Given the description of an element on the screen output the (x, y) to click on. 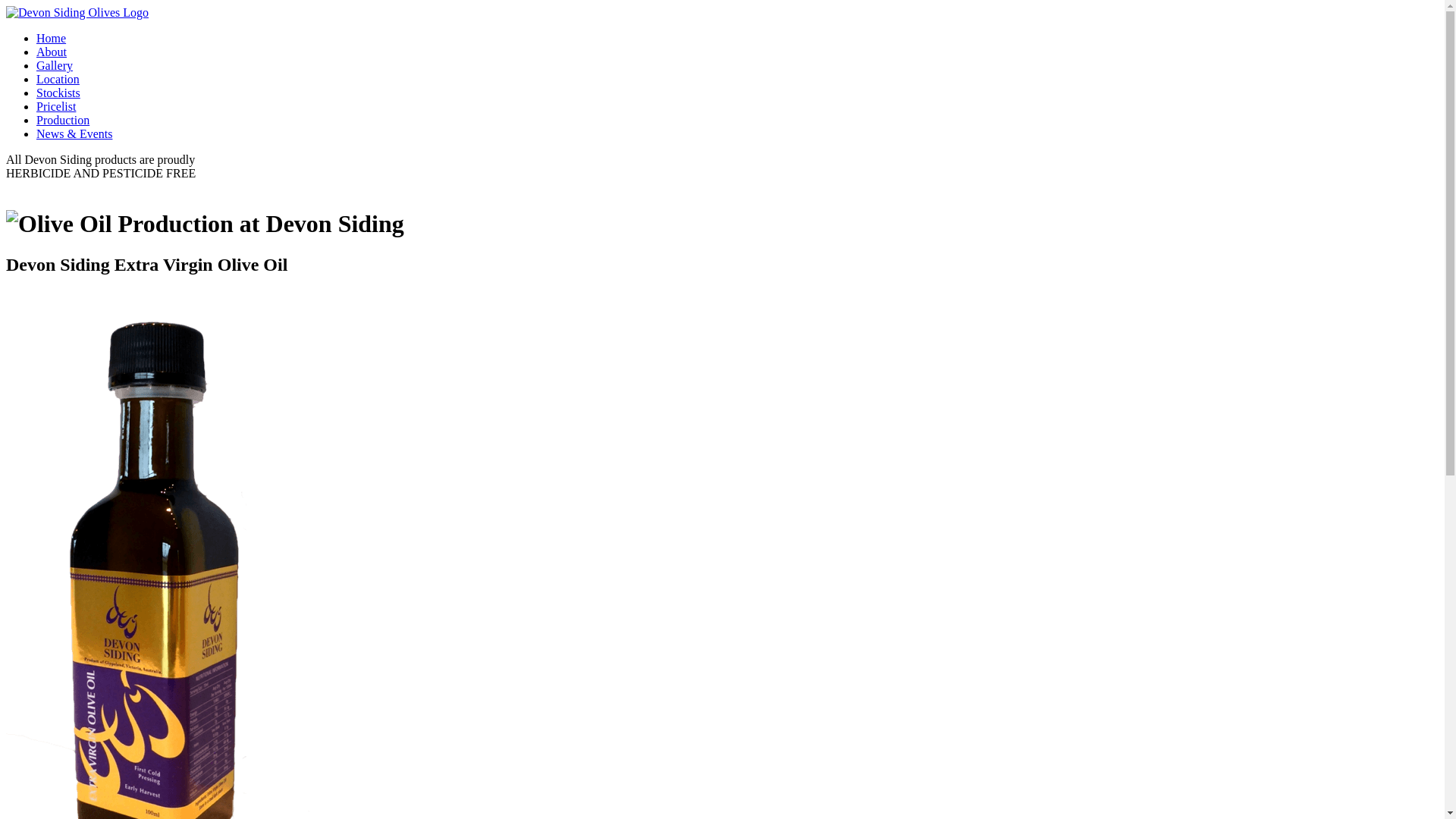
About Element type: text (51, 51)
Gallery Element type: text (54, 65)
News & Events Element type: text (74, 133)
Location Element type: text (57, 78)
Pricelist Element type: text (55, 106)
Production Element type: text (62, 119)
Stockists Element type: text (58, 92)
Home Element type: text (50, 37)
